Given the description of an element on the screen output the (x, y) to click on. 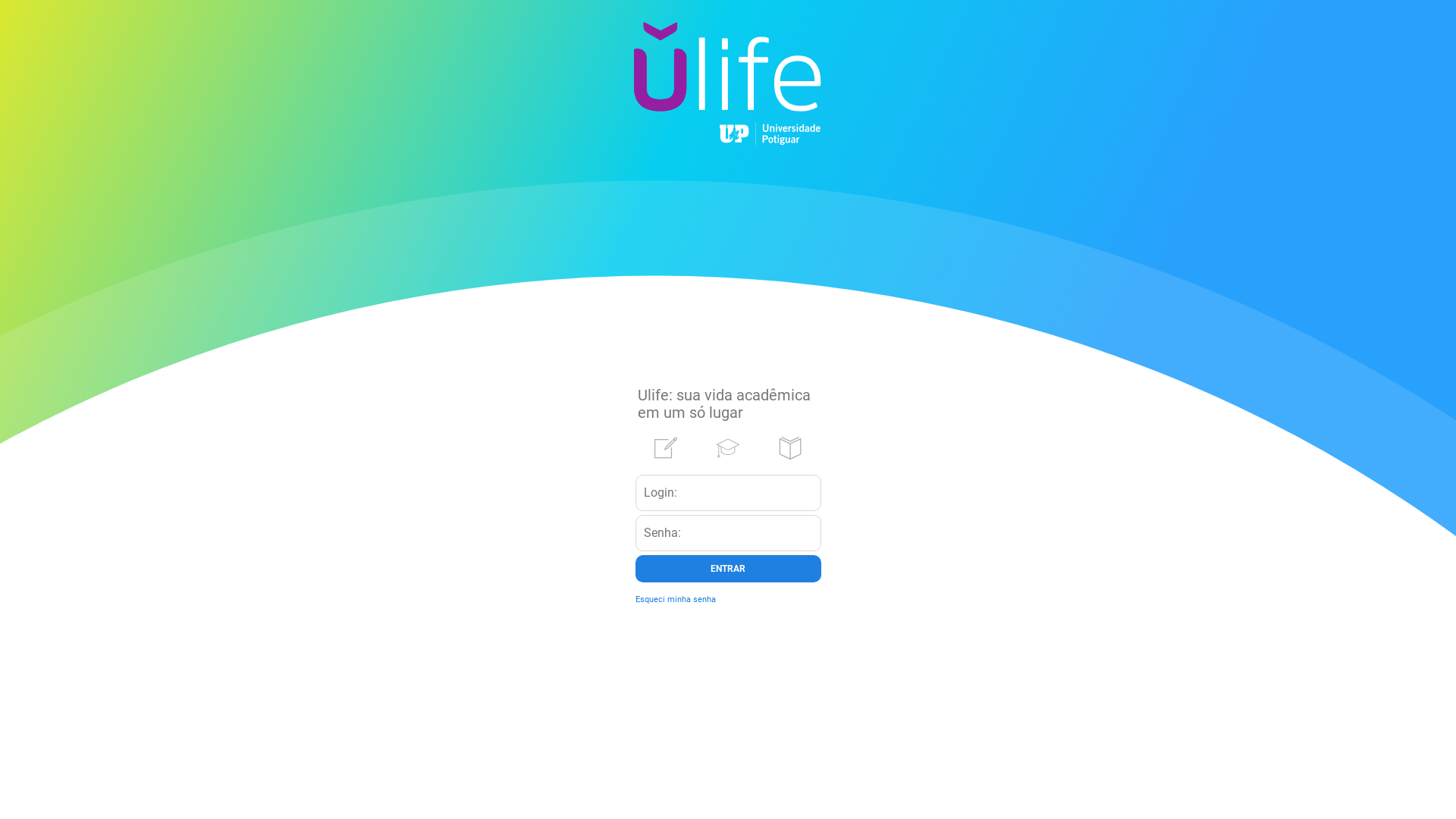
Esqueci minha senha Element type: text (675, 599)
